Given the description of an element on the screen output the (x, y) to click on. 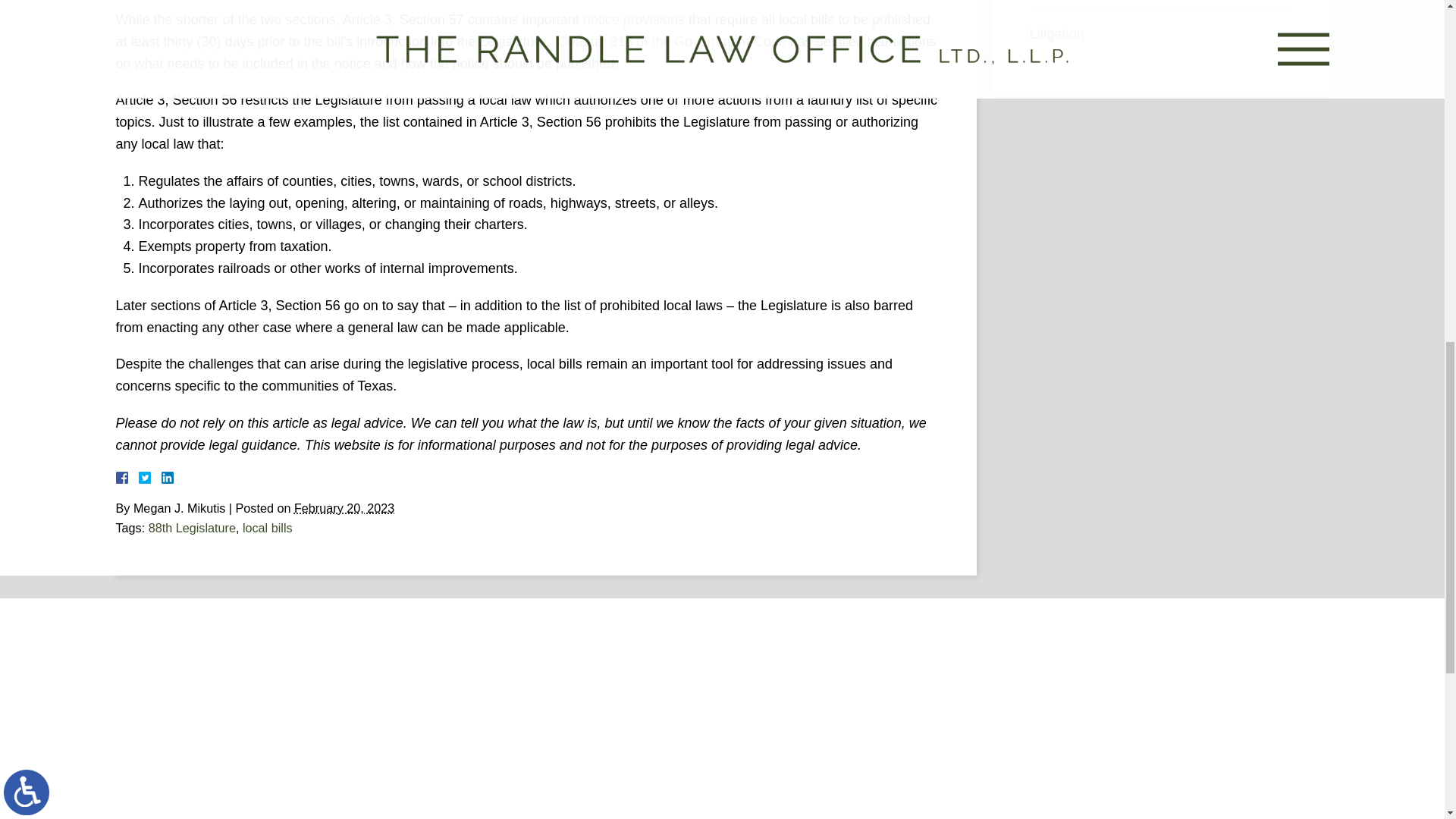
Twitter (149, 477)
notice provisions (633, 19)
Facebook (139, 477)
Chapter 313 of the Government Code (671, 41)
88th Legislature (191, 527)
local bills (267, 527)
2023-02-20T13:31:58-0800 (344, 508)
LinkedIn (160, 477)
